Given the description of an element on the screen output the (x, y) to click on. 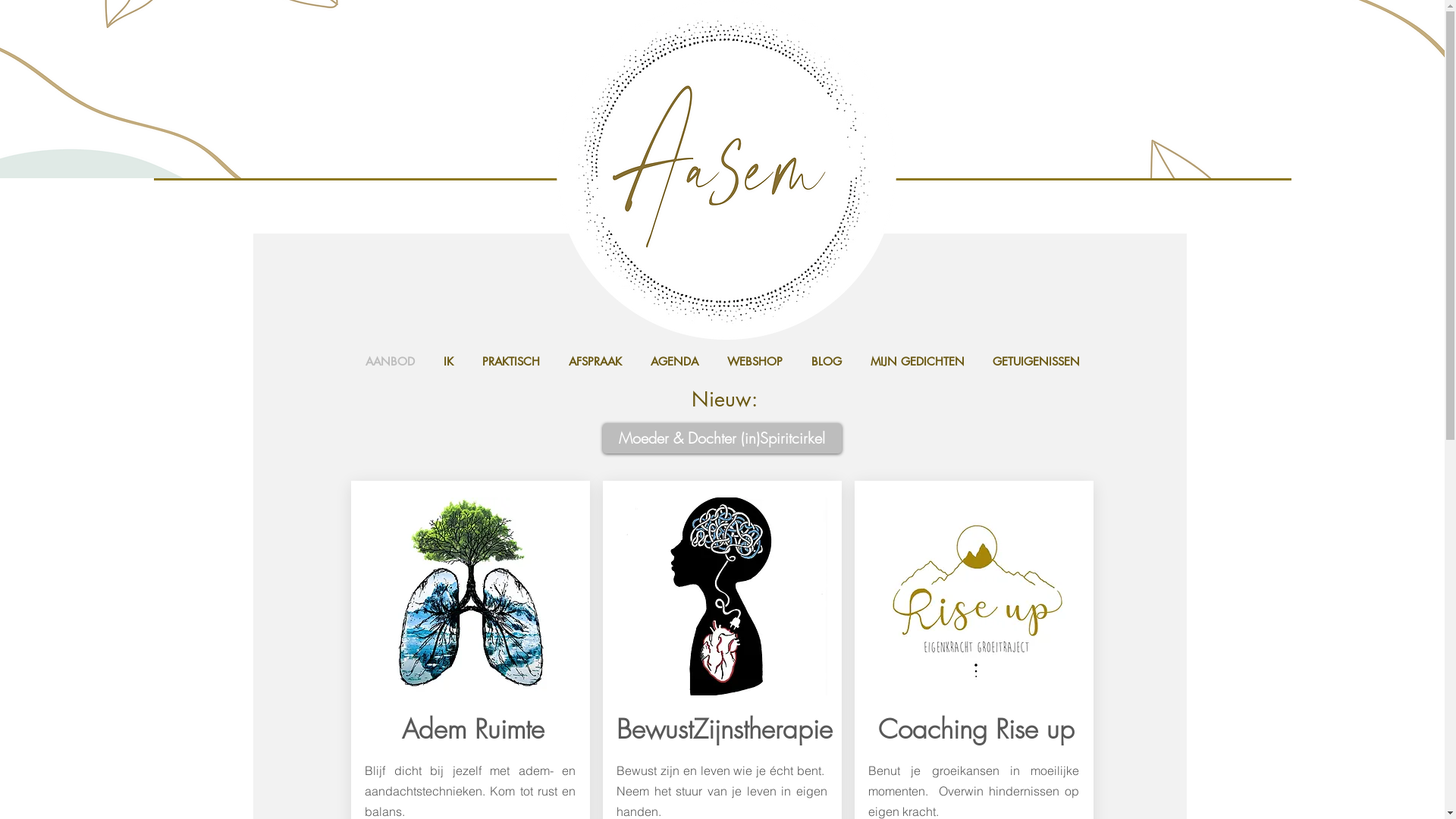
AGENDA Element type: text (673, 361)
Moeder & Dochter (in)Spiritcirkel Element type: text (721, 438)
BLOG Element type: text (825, 361)
IK Element type: text (448, 361)
WEBSHOP Element type: text (754, 361)
MIJN GEDICHTEN Element type: text (916, 361)
PRAKTISCH Element type: text (510, 361)
GETUIGENISSEN Element type: text (1035, 361)
AFSPRAAK Element type: text (594, 361)
AANBOD Element type: text (389, 361)
